Given the description of an element on the screen output the (x, y) to click on. 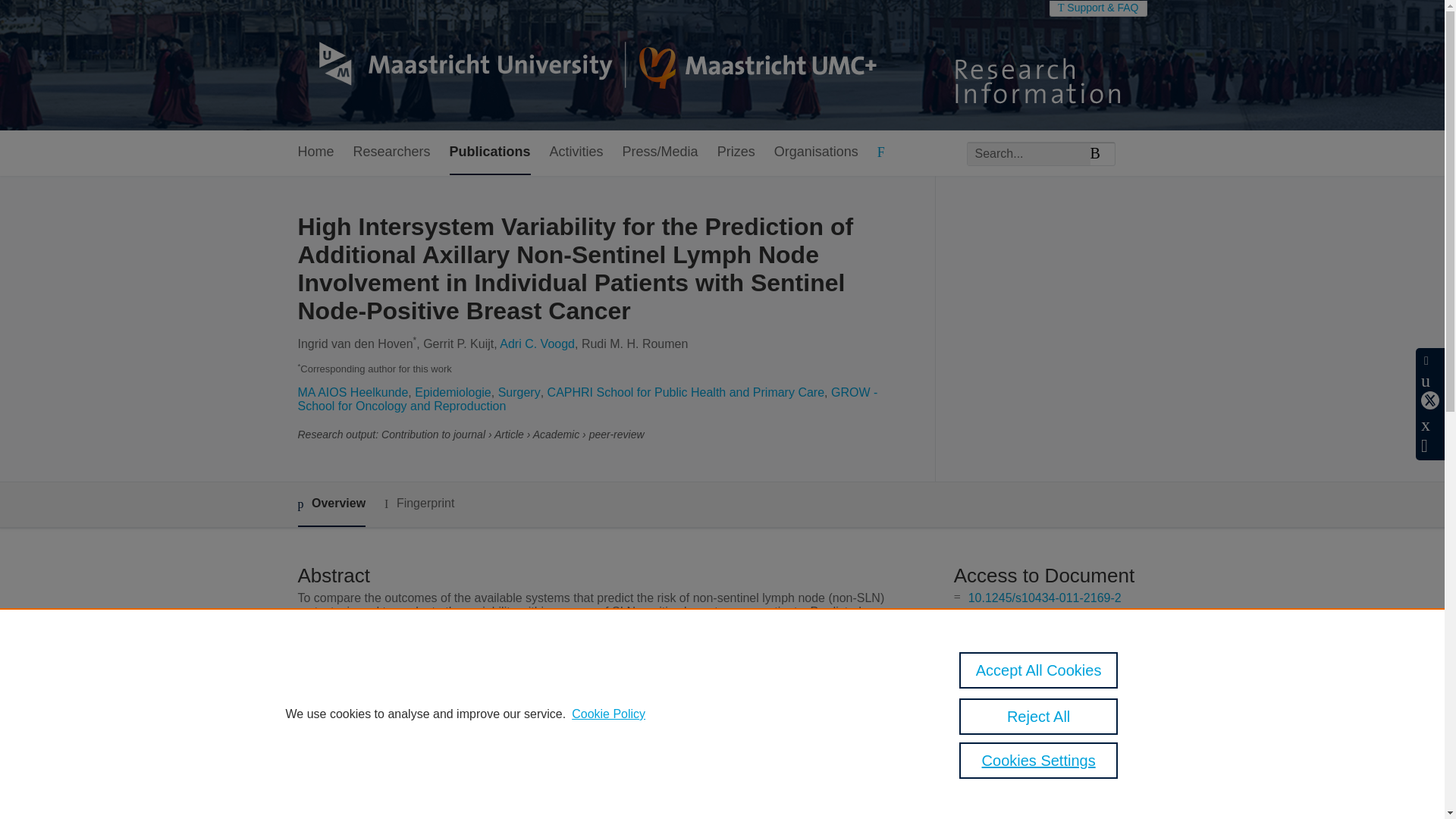
Maastricht University Home (586, 64)
MA AIOS Heelkunde (352, 391)
Activities (577, 152)
Surgery (518, 391)
Adri C. Voogd (537, 343)
Epidemiologie (453, 391)
Organisations (816, 152)
Publications (490, 152)
Fingerprint (419, 503)
